Given the description of an element on the screen output the (x, y) to click on. 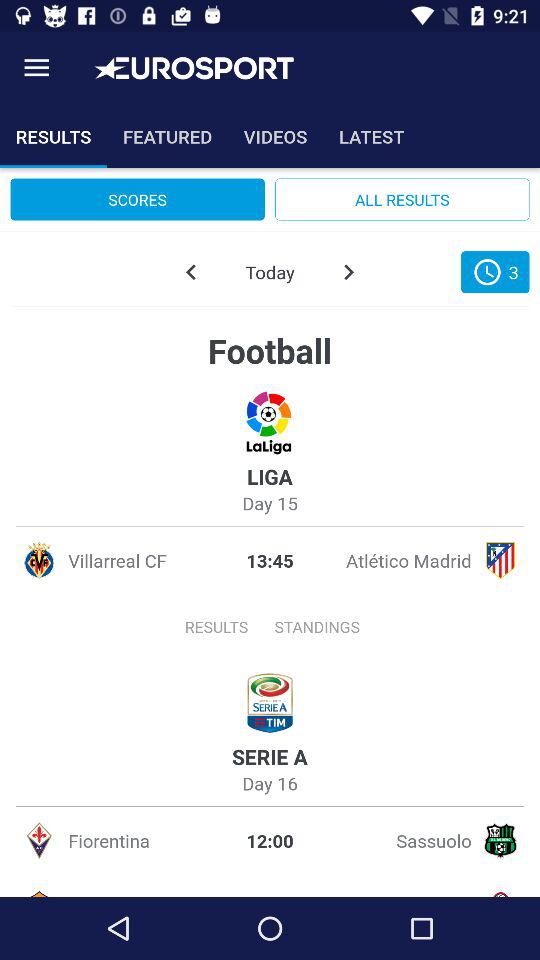
next (348, 272)
